Given the description of an element on the screen output the (x, y) to click on. 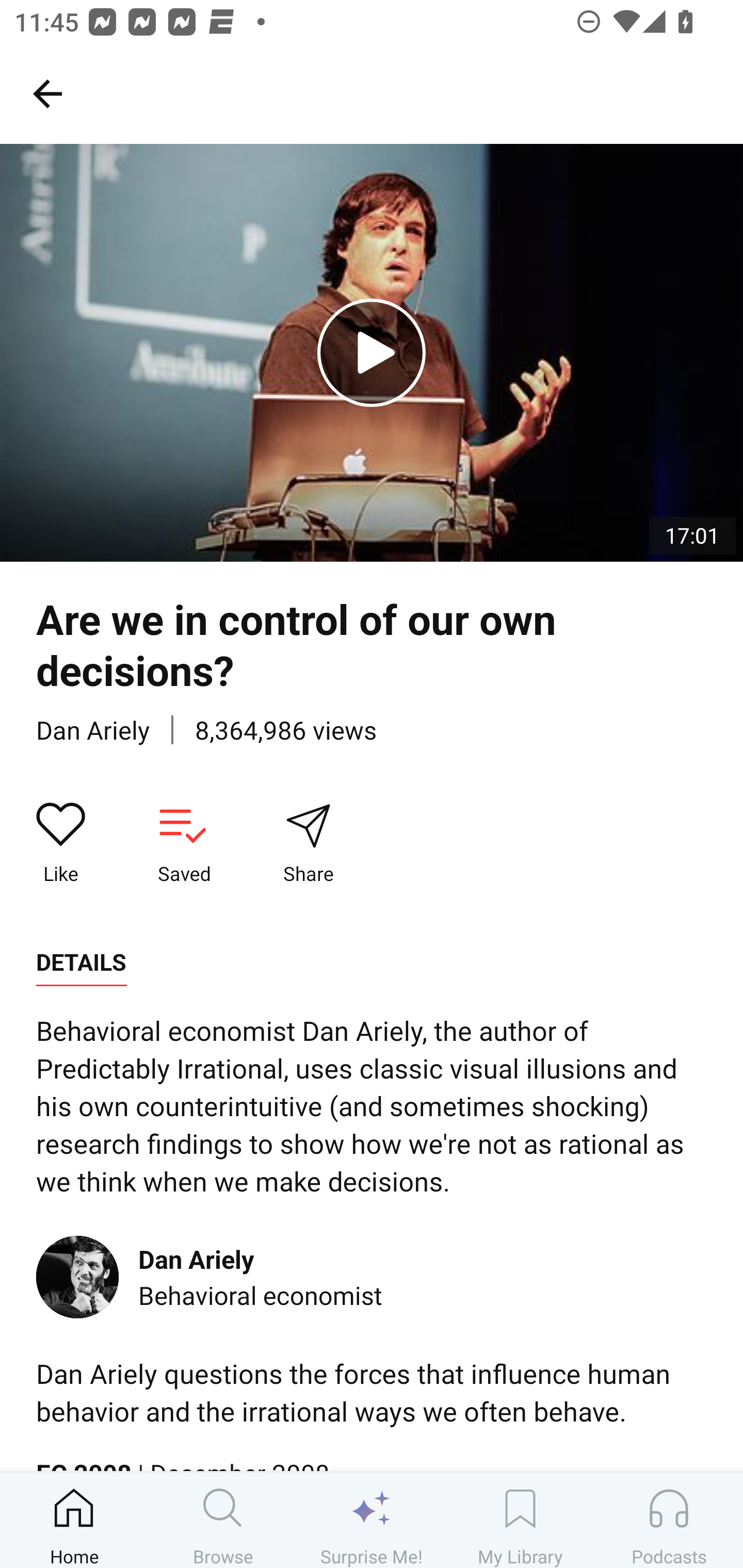
History, back (47, 92)
Like (60, 843)
Saved (183, 843)
Share (308, 843)
DETAILS (80, 962)
Home (74, 1520)
Browse (222, 1520)
Surprise Me! (371, 1520)
My Library (519, 1520)
Podcasts (668, 1520)
